Given the description of an element on the screen output the (x, y) to click on. 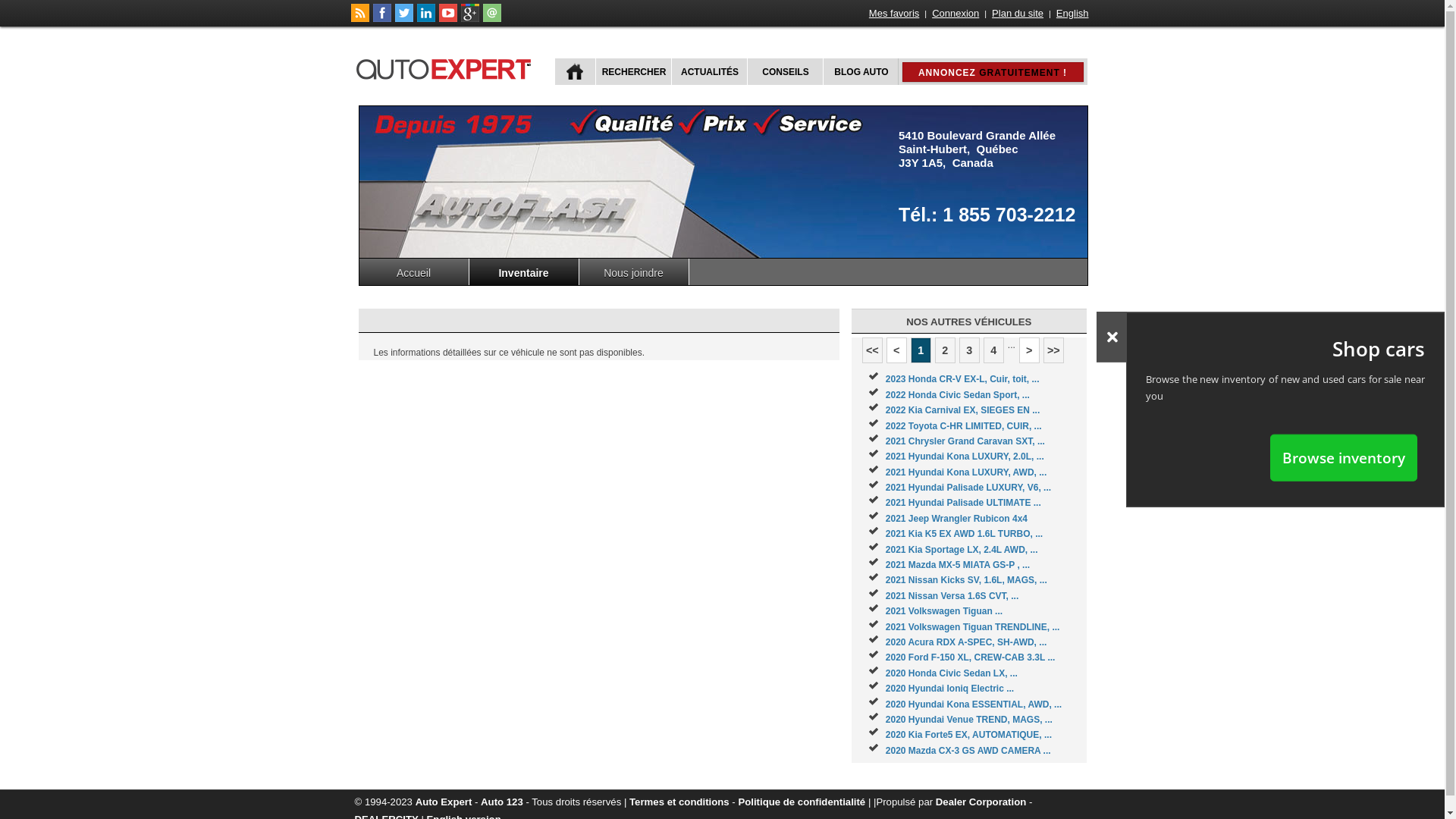
Nous joindre Element type: text (634, 271)
2020 Ford F-150 XL, CREW-CAB 3.3L ... Element type: text (970, 657)
2 Element type: text (945, 350)
2020 Hyundai Kona ESSENTIAL, AWD, ... Element type: text (973, 704)
Suivez autoExpert.ca sur Facebook Element type: hover (382, 18)
< Element type: text (896, 350)
Joindre autoExpert.ca Element type: hover (491, 18)
2021 Mazda MX-5 MIATA GS-P , ... Element type: text (957, 564)
Suivez autoExpert.ca sur Twitter Element type: hover (403, 18)
3 Element type: text (969, 350)
English Element type: text (1072, 13)
2021 Volkswagen Tiguan TRENDLINE, ... Element type: text (972, 626)
2020 Honda Civic Sedan LX, ... Element type: text (951, 673)
BLOG AUTO Element type: text (859, 71)
2021 Nissan Versa 1.6S CVT, ... Element type: text (951, 595)
2021 Hyundai Kona LUXURY, 2.0L, ... Element type: text (964, 456)
Termes et conditions Element type: text (679, 801)
2022 Kia Carnival EX, SIEGES EN ... Element type: text (962, 409)
2020 Hyundai Venue TREND, MAGS, ... Element type: text (968, 719)
Accueil Element type: text (414, 271)
Browse inventory Element type: text (1343, 457)
2021 Jeep Wrangler Rubicon 4x4 Element type: text (956, 518)
<< Element type: text (872, 350)
2022 Honda Civic Sedan Sport, ... Element type: text (957, 394)
2021 Kia K5 EX AWD 1.6L TURBO, ... Element type: text (963, 533)
1 Element type: text (920, 350)
2022 Toyota C-HR LIMITED, CUIR, ... Element type: text (963, 425)
Mes favoris Element type: text (893, 13)
Plan du site Element type: text (1017, 13)
Suivez Publications Le Guide Inc. sur LinkedIn Element type: hover (426, 18)
ANNONCEZ GRATUITEMENT ! Element type: text (992, 71)
CONSEILS Element type: text (783, 71)
2023 Honda CR-V EX-L, Cuir, toit, ... Element type: text (962, 378)
Suivez autoExpert.ca sur Google Plus Element type: hover (470, 18)
2021 Kia Sportage LX, 2.4L AWD, ... Element type: text (961, 549)
>> Element type: text (1053, 350)
Auto 123 Element type: text (501, 801)
4 Element type: text (993, 350)
Inventaire Element type: text (523, 271)
RECHERCHER Element type: text (631, 71)
Auto Expert Element type: text (443, 801)
2021 Hyundai Palisade LUXURY, V6, ... Element type: text (968, 487)
2020 Acura RDX A-SPEC, SH-AWD, ... Element type: text (966, 642)
2020 Mazda CX-3 GS AWD CAMERA ... Element type: text (968, 750)
Dealer Corporation Element type: text (980, 801)
ACCUEIL Element type: text (575, 71)
2021 Hyundai Kona LUXURY, AWD, ... Element type: text (965, 472)
autoExpert.ca Element type: text (446, 66)
2020 Hyundai Ioniq Electric ... Element type: text (949, 688)
2021 Volkswagen Tiguan ... Element type: text (943, 610)
2021 Nissan Kicks SV, 1.6L, MAGS, ... Element type: text (966, 579)
2021 Chrysler Grand Caravan SXT, ... Element type: text (964, 441)
Connexion Element type: text (955, 13)
Suivez autoExpert.ca sur Youtube Element type: hover (447, 18)
> Element type: text (1029, 350)
2021 Hyundai Palisade ULTIMATE ... Element type: text (963, 502)
2020 Kia Forte5 EX, AUTOMATIQUE, ... Element type: text (968, 734)
